Given the description of an element on the screen output the (x, y) to click on. 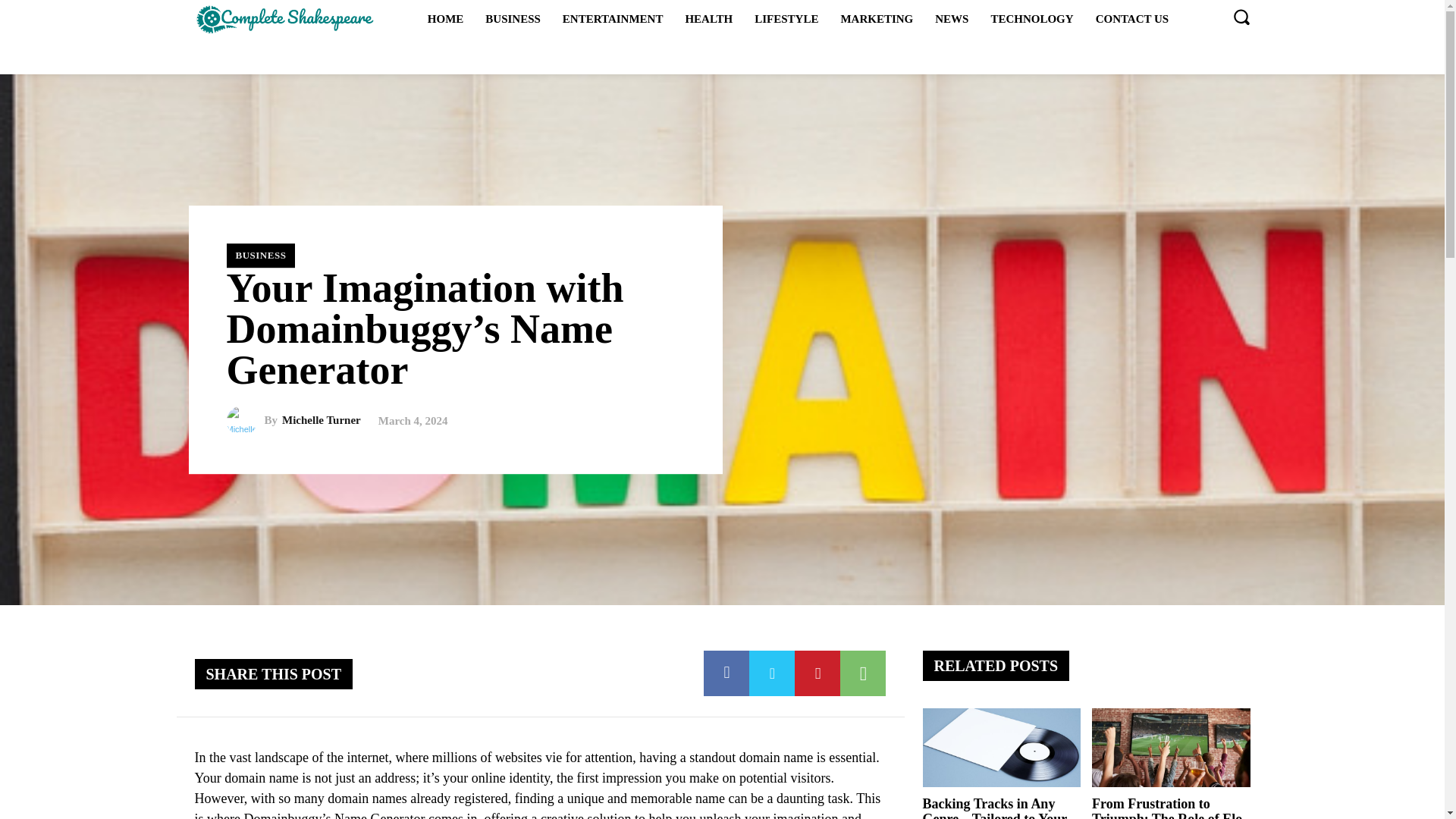
BUSINESS (260, 255)
HEALTH (708, 18)
TECHNOLOGY (1031, 18)
NEWS (951, 18)
LIFESTYLE (786, 18)
WhatsApp (862, 673)
Michelle Turner (321, 419)
BUSINESS (513, 18)
Twitter (771, 673)
